Given the description of an element on the screen output the (x, y) to click on. 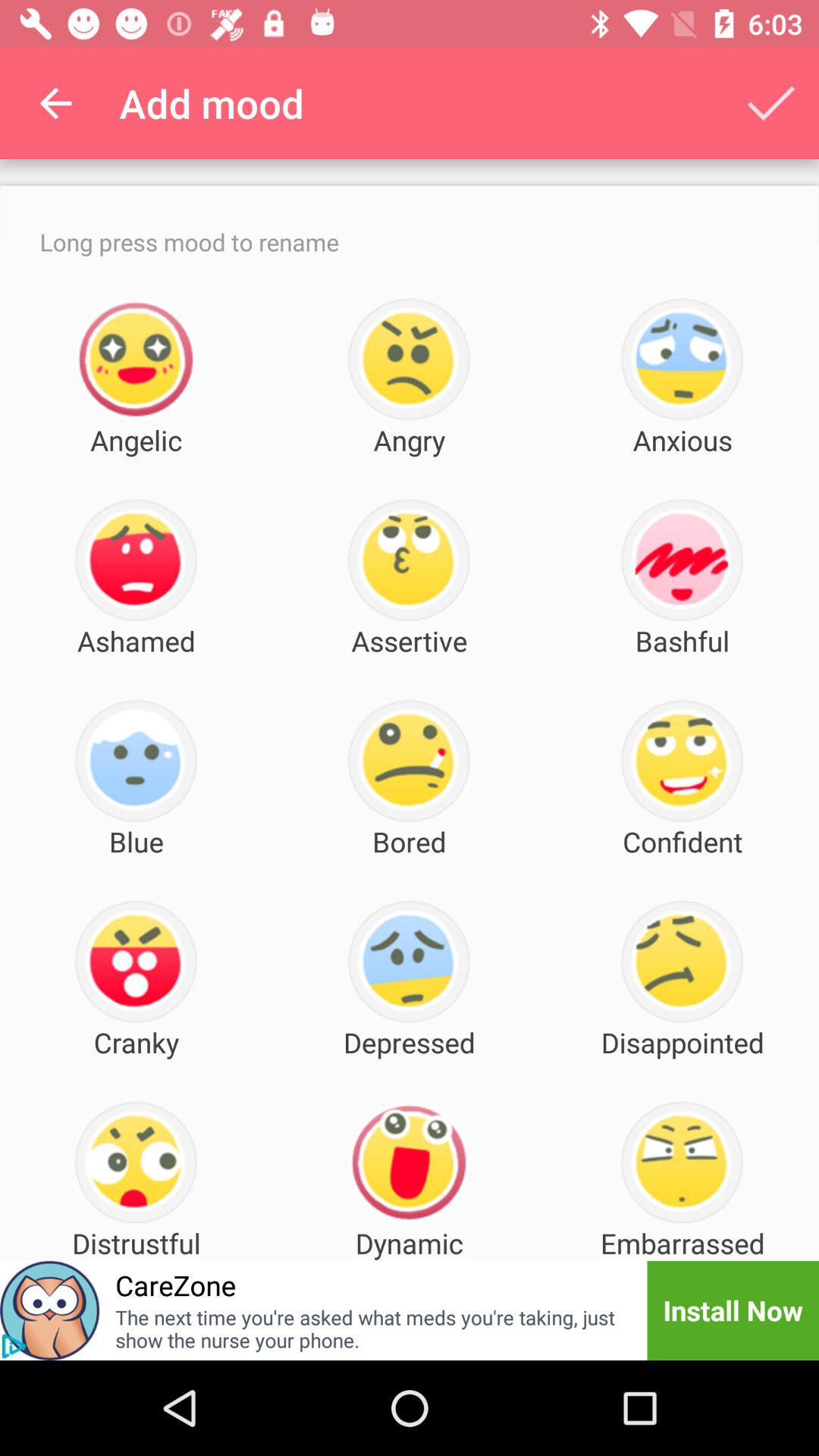
click the item next to the next time icon (14, 1346)
